Given the description of an element on the screen output the (x, y) to click on. 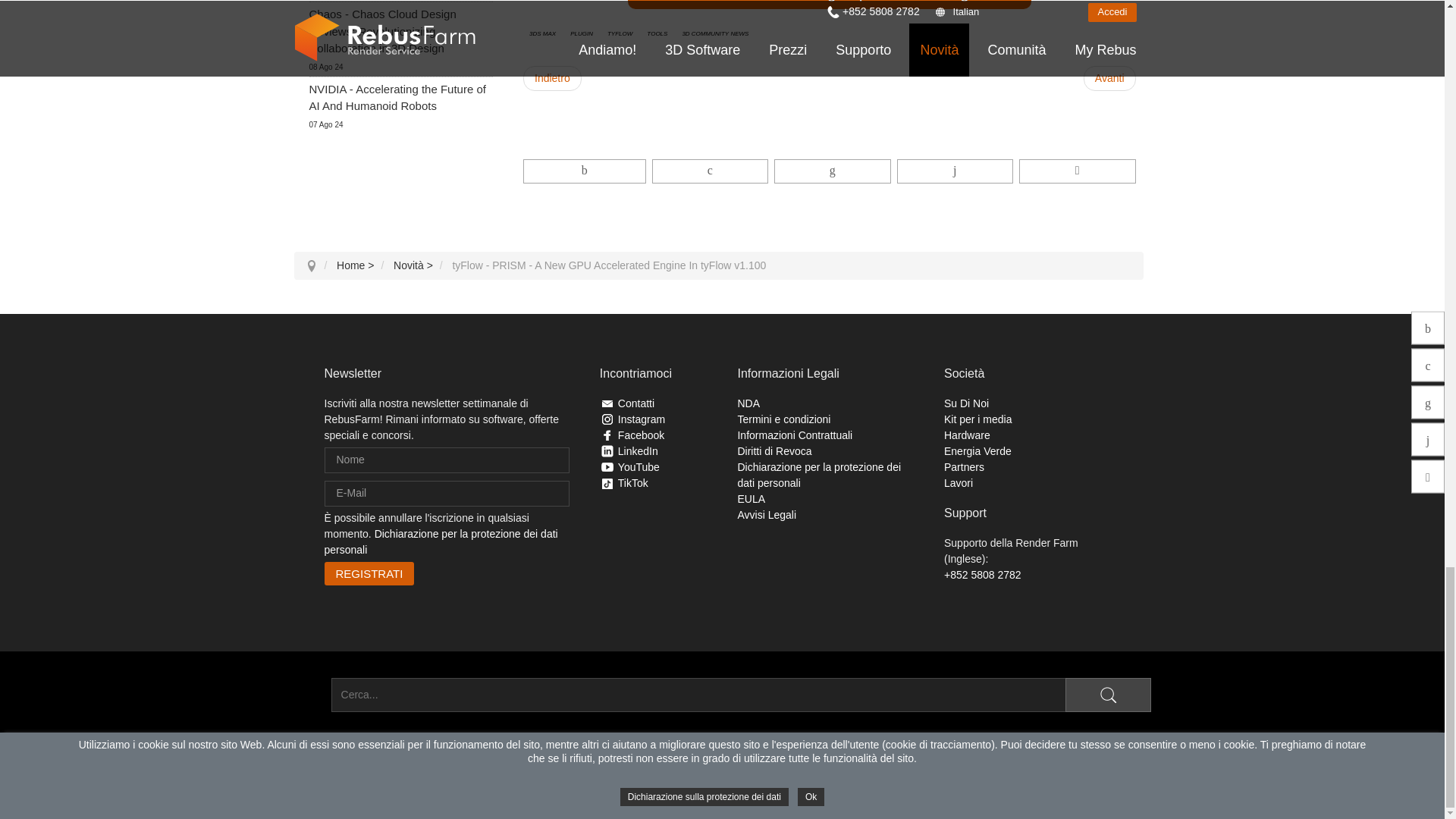
REGISTRATI (369, 573)
E-Mail (446, 493)
Nome (446, 460)
